Given the description of an element on the screen output the (x, y) to click on. 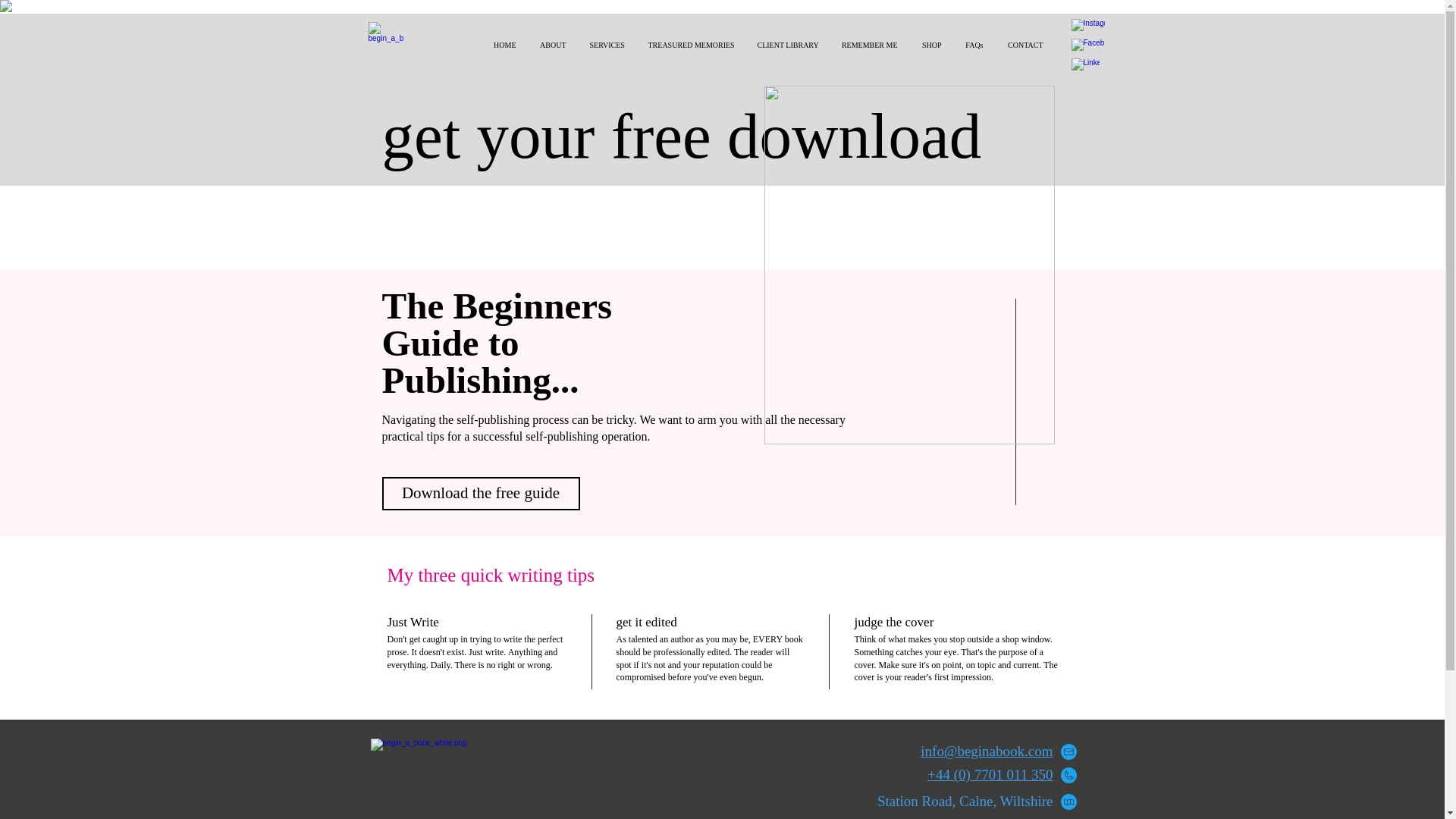
ABOUT (552, 45)
TREASURED MEMORIES (689, 45)
HOME (503, 45)
CONTACT (1024, 45)
SERVICES (607, 45)
Download the free guide (480, 493)
SHOP (930, 45)
FAQs (973, 45)
REMEMBER ME (868, 45)
CLIENT LIBRARY (786, 45)
